Given the description of an element on the screen output the (x, y) to click on. 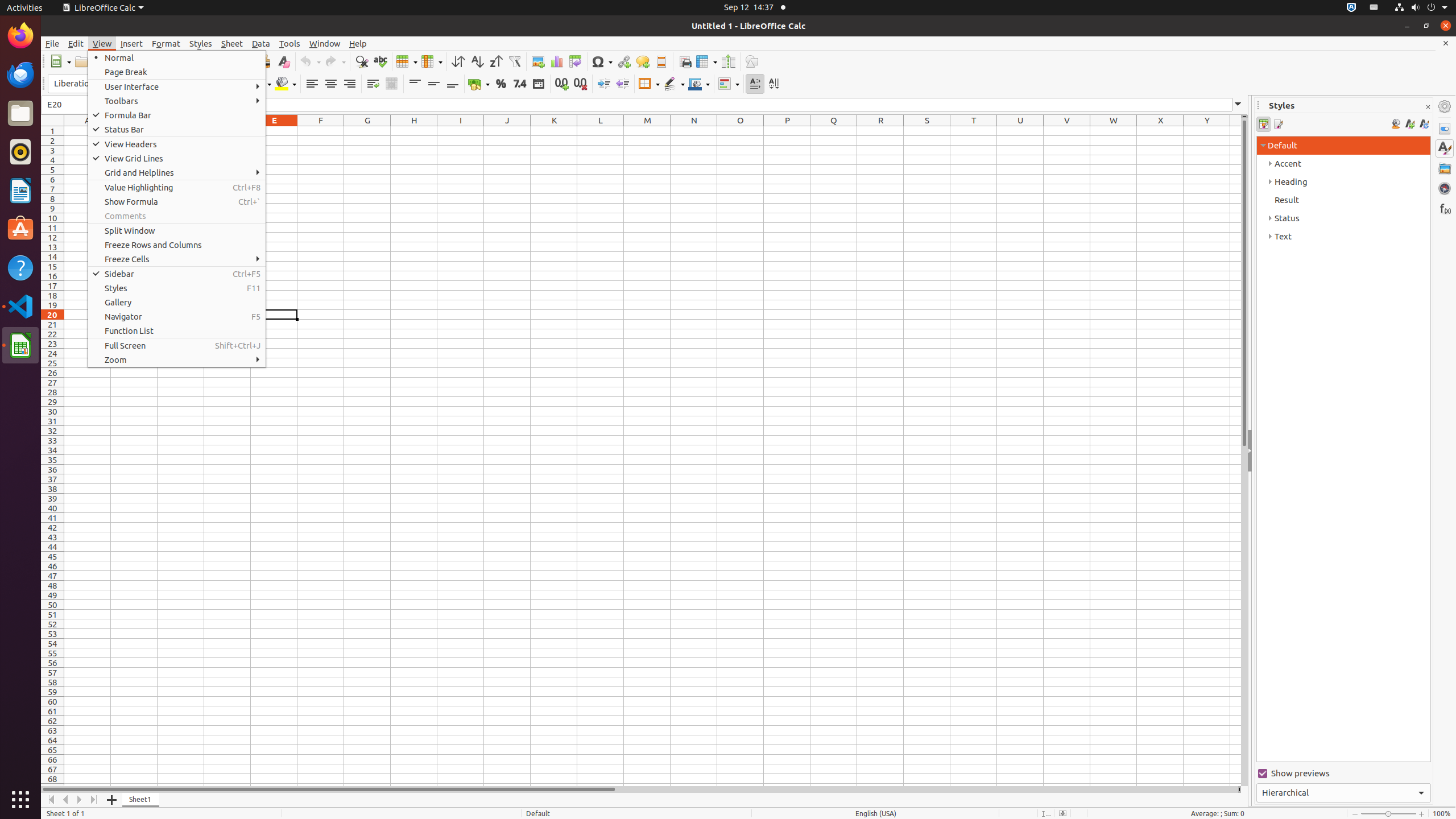
Normal Element type: radio-menu-item (176, 57)
P1 Element type: table-cell (786, 130)
Help Element type: menu (357, 43)
X1 Element type: table-cell (1159, 130)
B1 Element type: table-cell (133, 130)
